Given the description of an element on the screen output the (x, y) to click on. 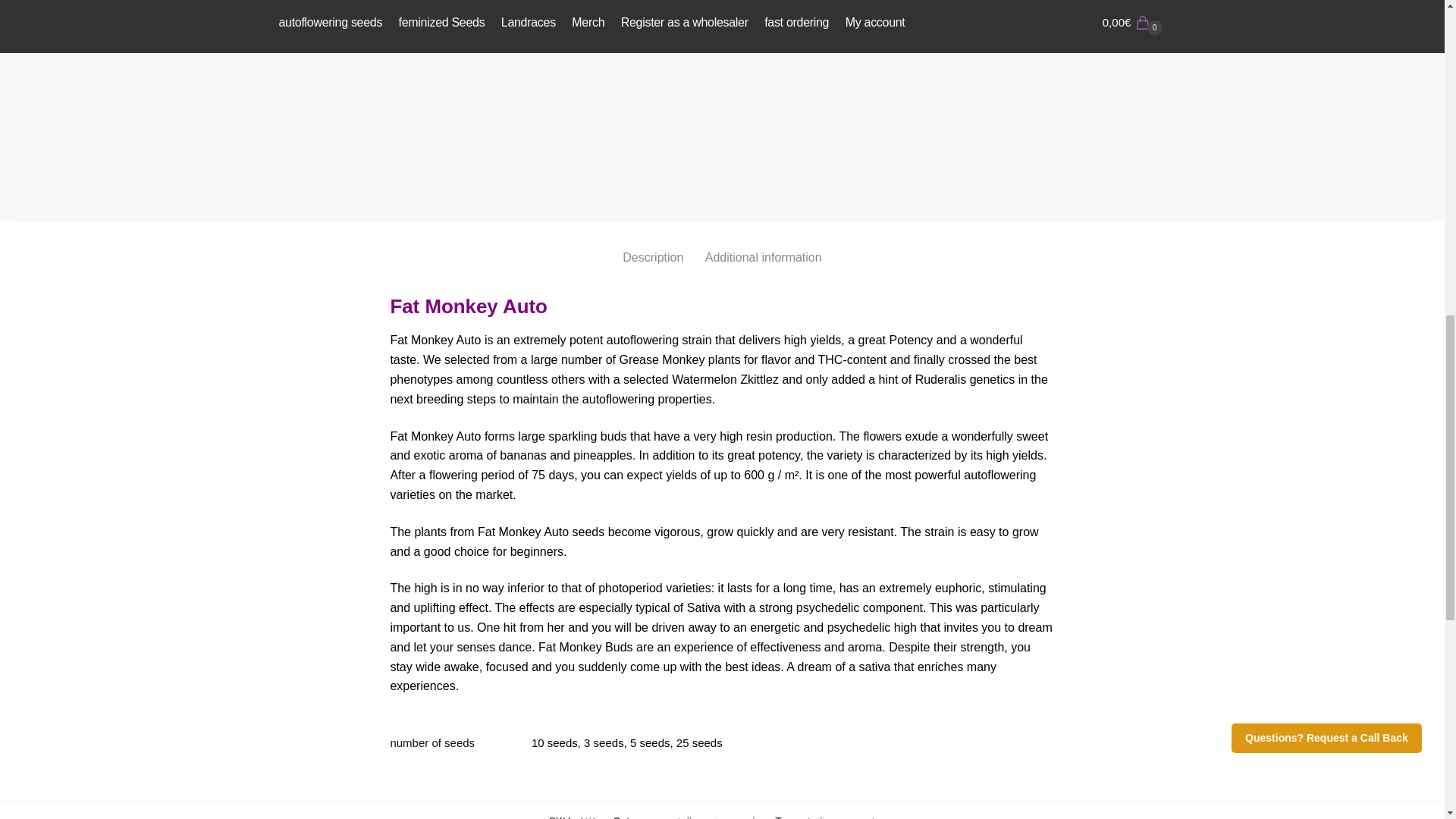
Select options (1184, 203)
Additional information (763, 245)
autoflowering seeds (712, 816)
new (850, 816)
Description (652, 245)
Indica (821, 816)
strong (881, 816)
